Given the description of an element on the screen output the (x, y) to click on. 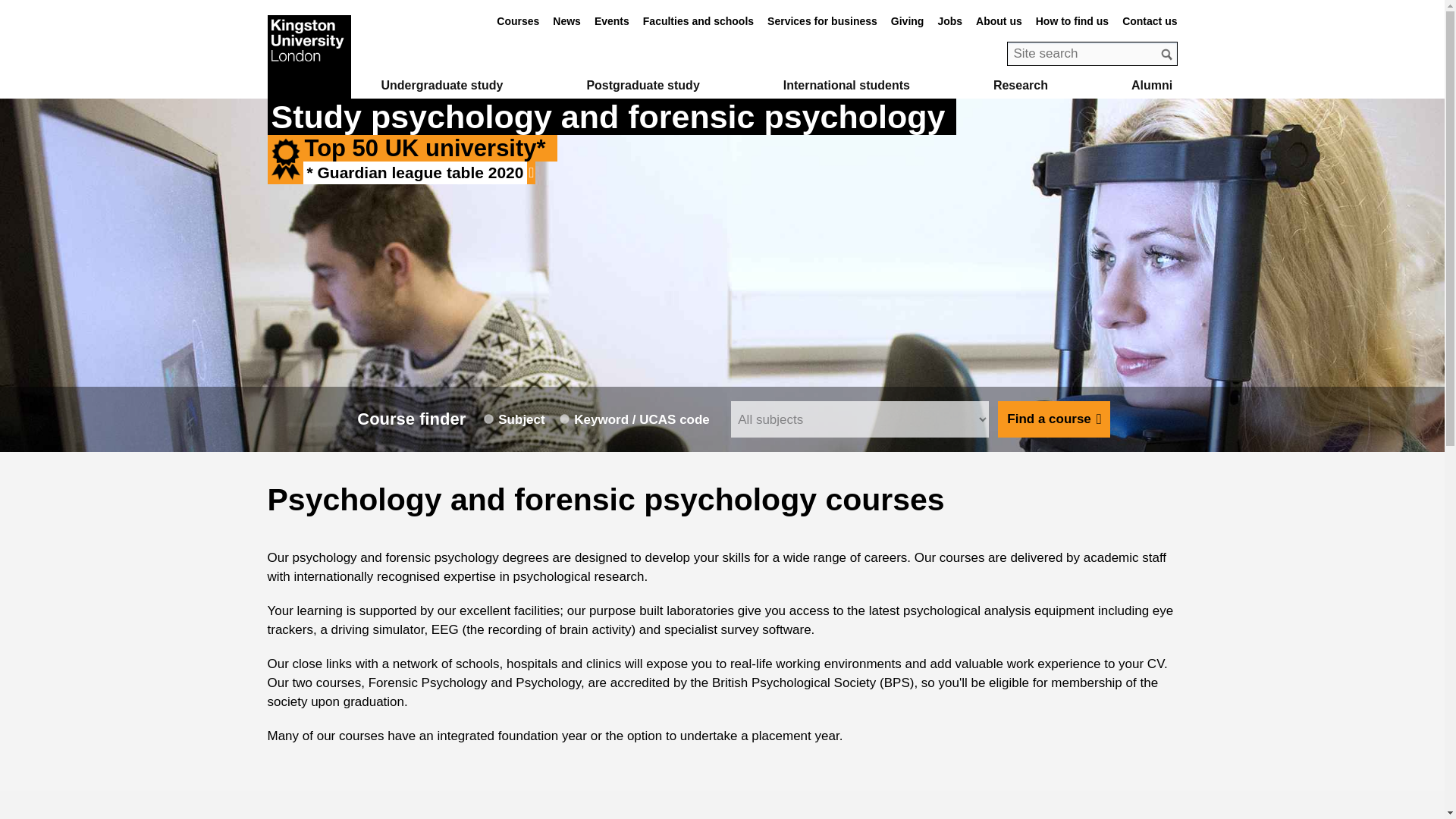
Job vacancies at Kingston University London (949, 21)
Search (1166, 53)
Research (1020, 84)
International students at Kingston University (846, 84)
Events at Kingston University London (611, 21)
How to find Kingston University London (1071, 21)
Faculties and schools (698, 21)
